Given the description of an element on the screen output the (x, y) to click on. 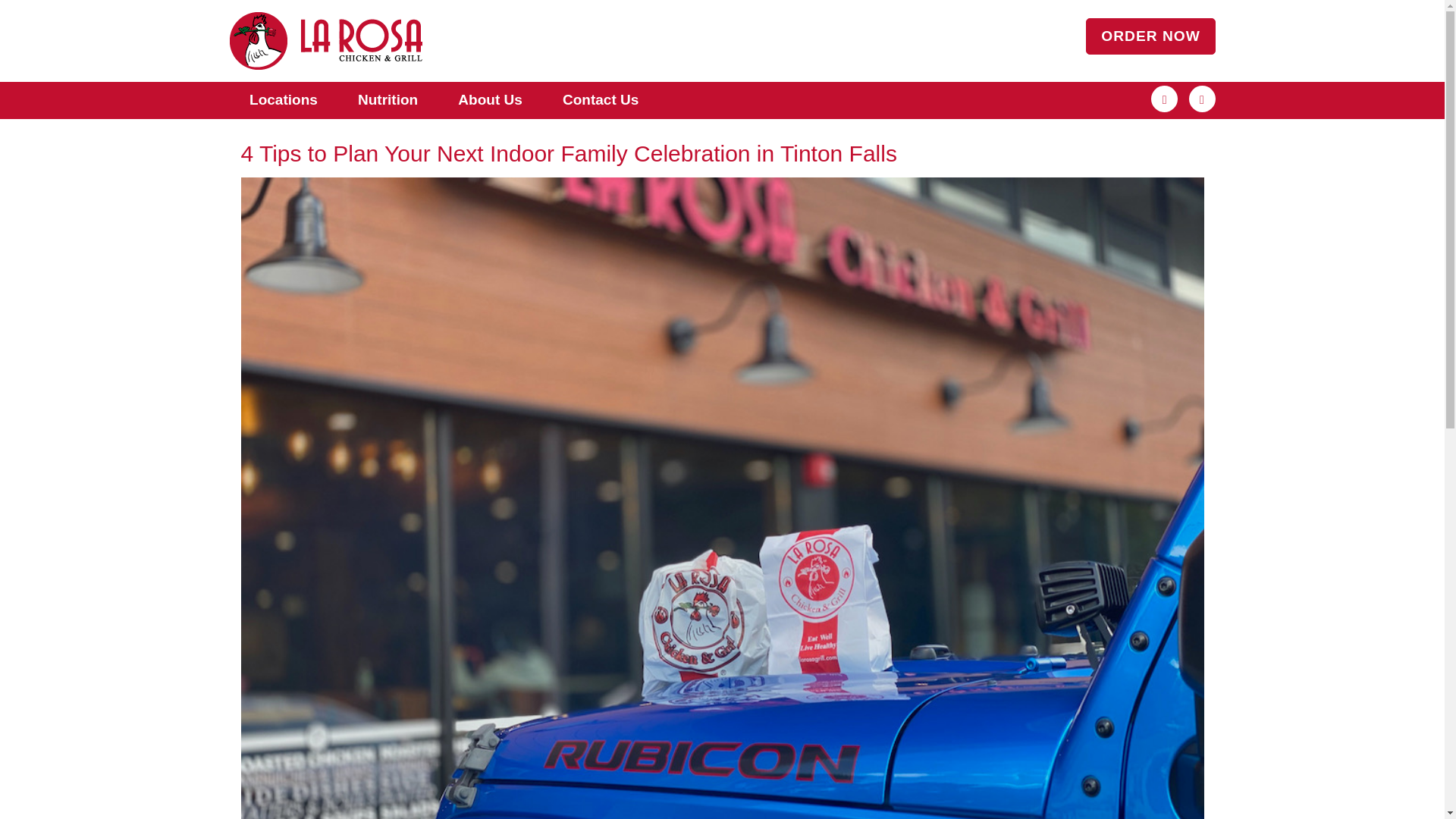
ORDER NOW (1150, 36)
Nutrition (387, 100)
About Us (490, 100)
Locations (283, 100)
Contact Us (599, 100)
